Given the description of an element on the screen output the (x, y) to click on. 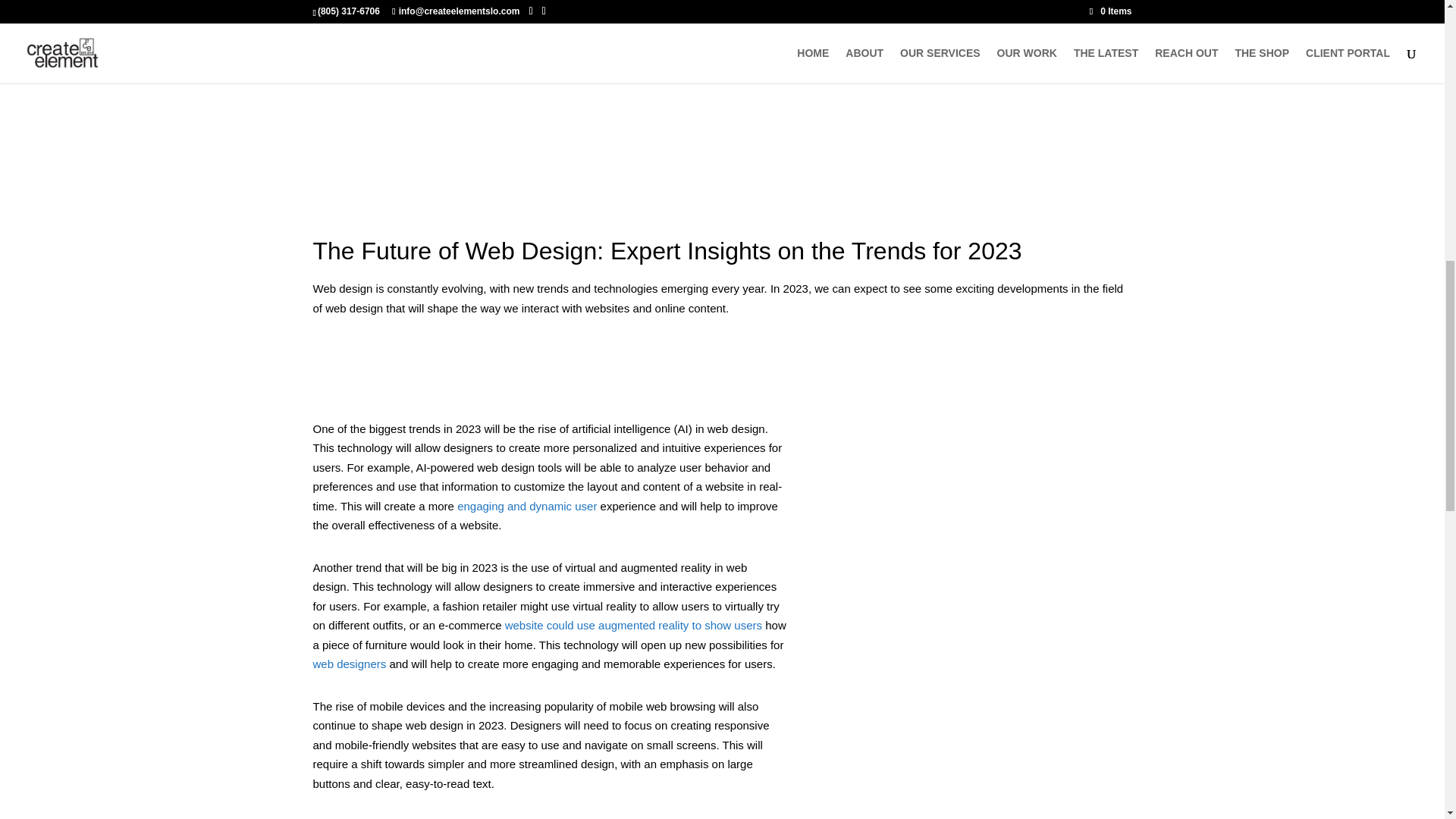
engaging and dynamic user (526, 505)
web designers (349, 663)
website could use augmented reality to show users (633, 625)
